Given the description of an element on the screen output the (x, y) to click on. 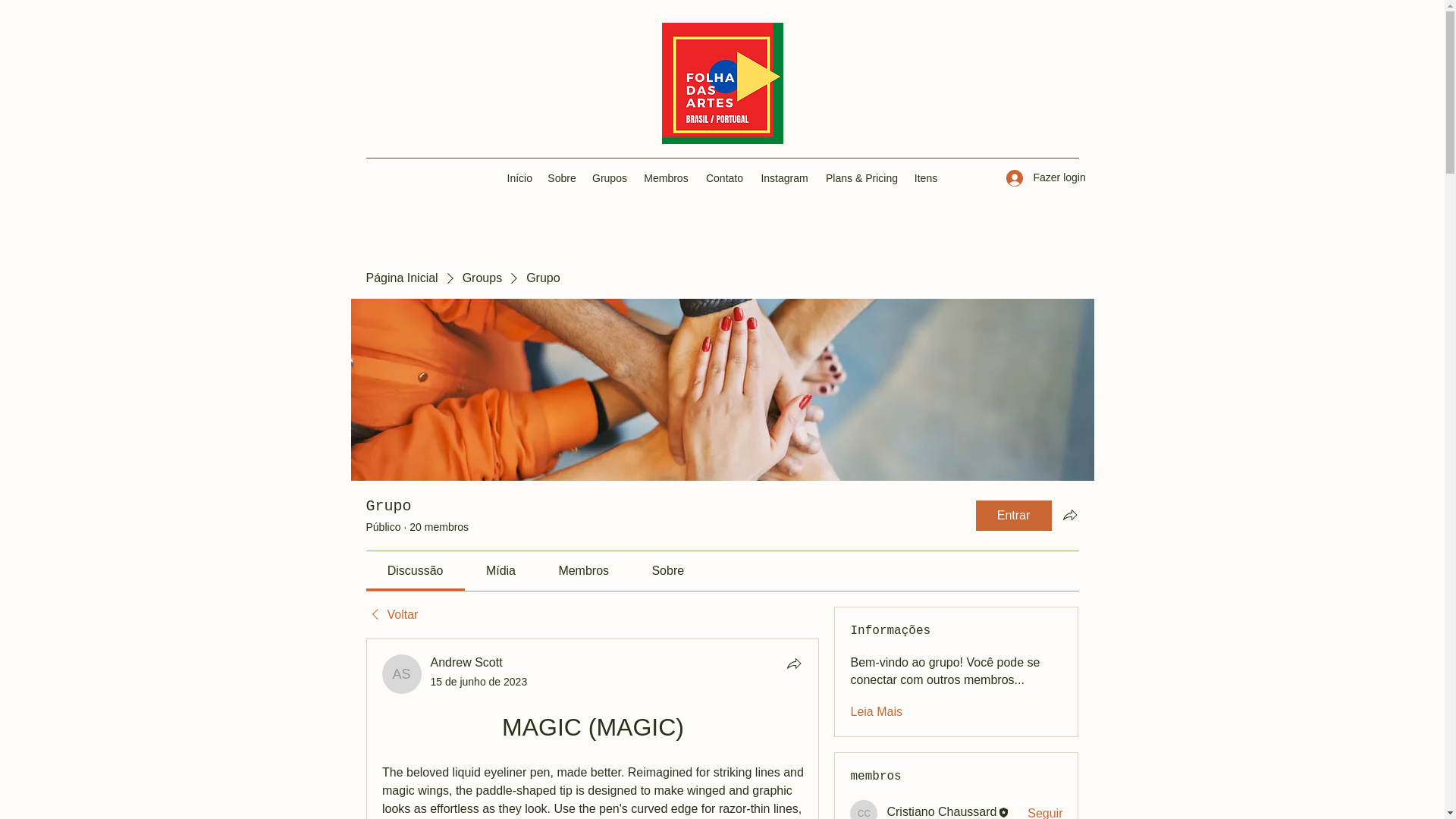
Cristiano Chaussard (940, 811)
Contato (724, 178)
Voltar (391, 614)
Groups (482, 278)
Sobre (562, 178)
Entrar (1013, 515)
Grupos (608, 178)
Andrew Scott (466, 662)
Cristiano Chaussard (863, 809)
Itens (925, 178)
Leia Mais (875, 711)
Seguir (1044, 812)
Instagram (784, 178)
Fazer login (1036, 177)
Andrew Scott (401, 673)
